Given the description of an element on the screen output the (x, y) to click on. 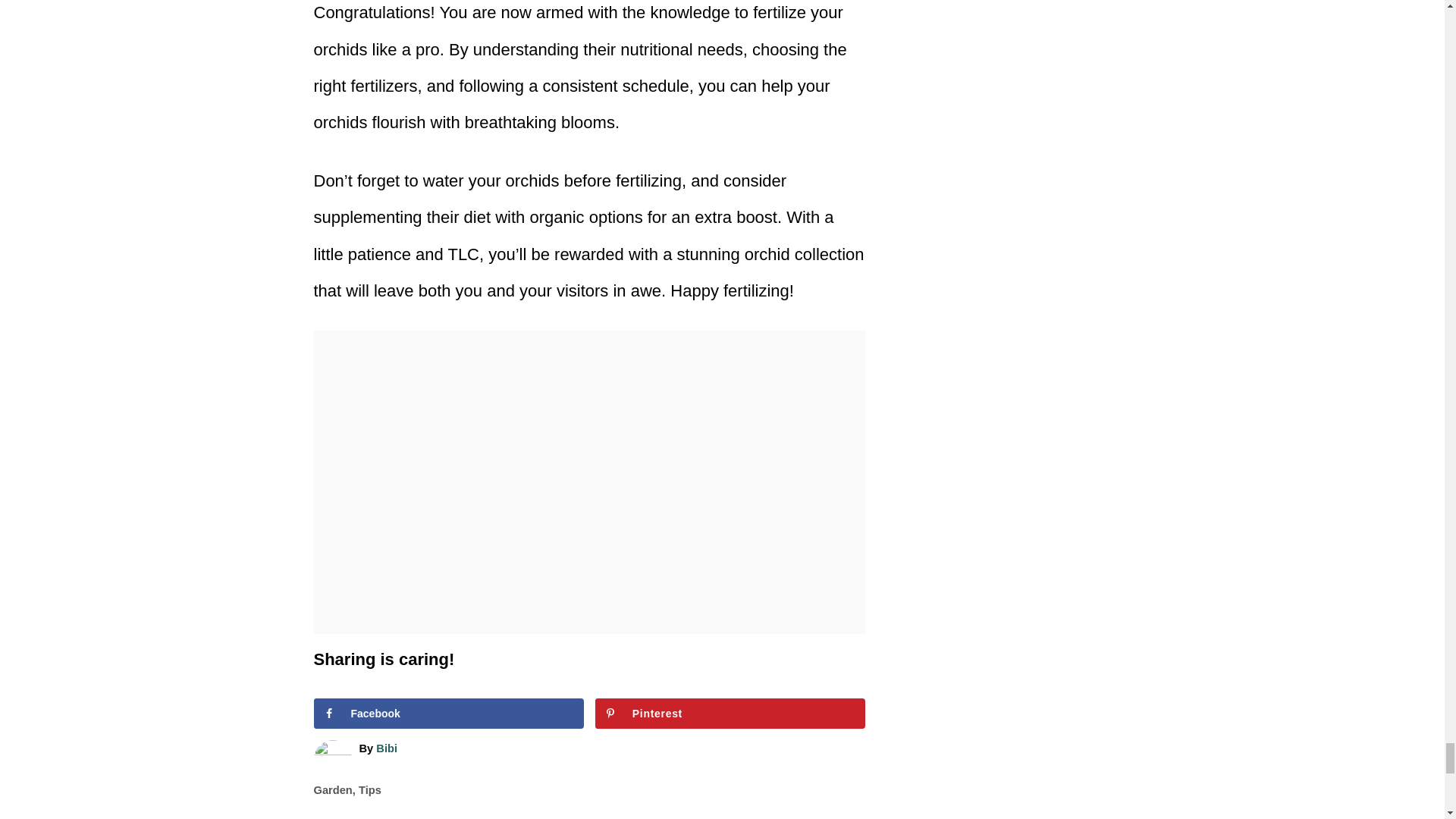
Bibi (386, 748)
Garden (333, 789)
Facebook (449, 713)
Share on Facebook (449, 713)
Pinterest (730, 713)
Tips (369, 789)
Save to Pinterest (730, 713)
